Given the description of an element on the screen output the (x, y) to click on. 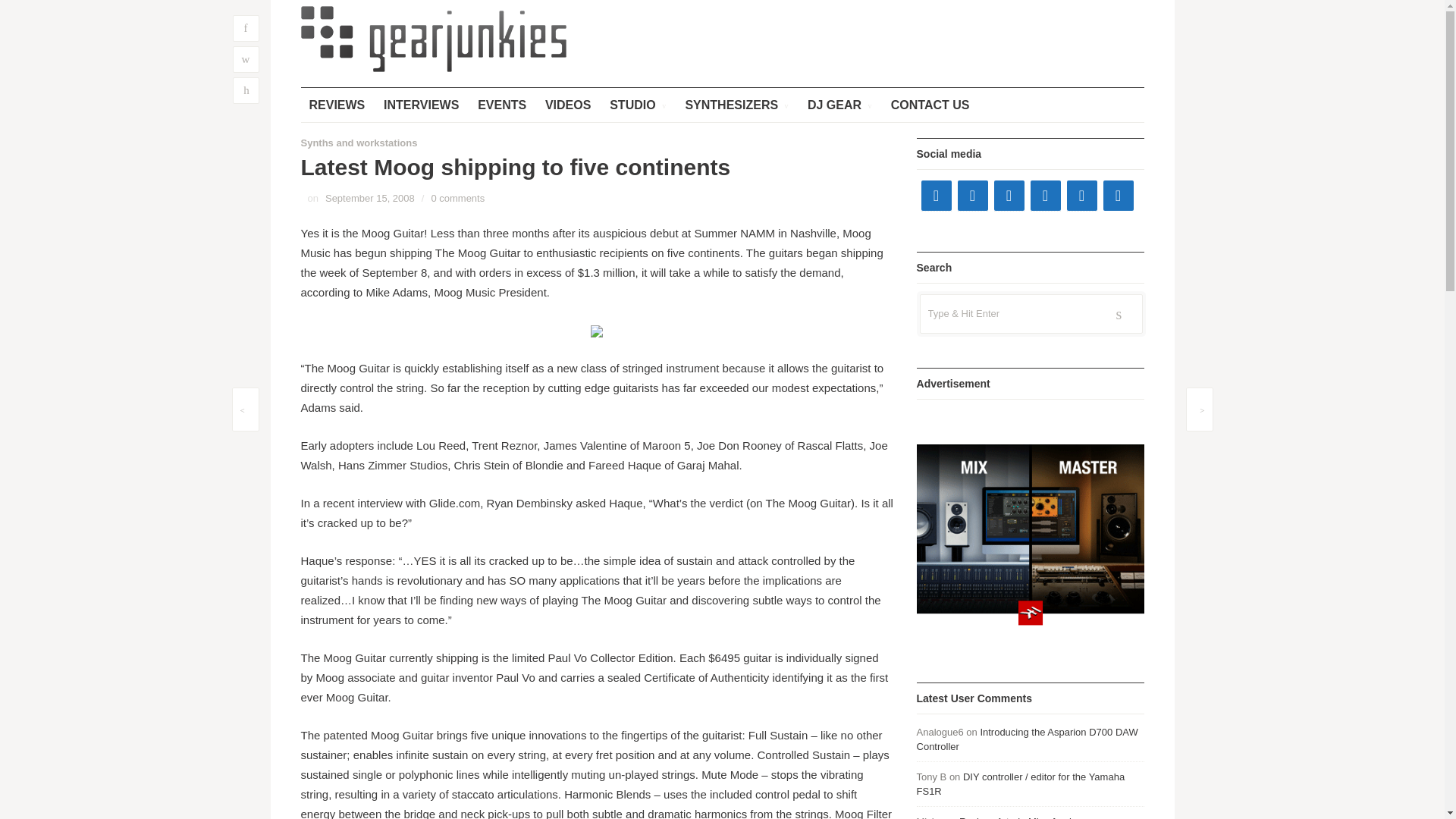
CONTACT US (930, 104)
Facebook (935, 195)
0 comments (457, 197)
YouTube (1007, 195)
INTERVIEWS (421, 104)
VIDEOS (567, 104)
SYNTHESIZERS (736, 104)
DJ GEAR (839, 104)
Synths and workstations (357, 142)
Twitter (971, 195)
REVIEWS (335, 104)
Permalink to Latest Moog shipping to five continents (369, 197)
w (245, 58)
September 15, 2008 (369, 197)
f (245, 28)
